Given the description of an element on the screen output the (x, y) to click on. 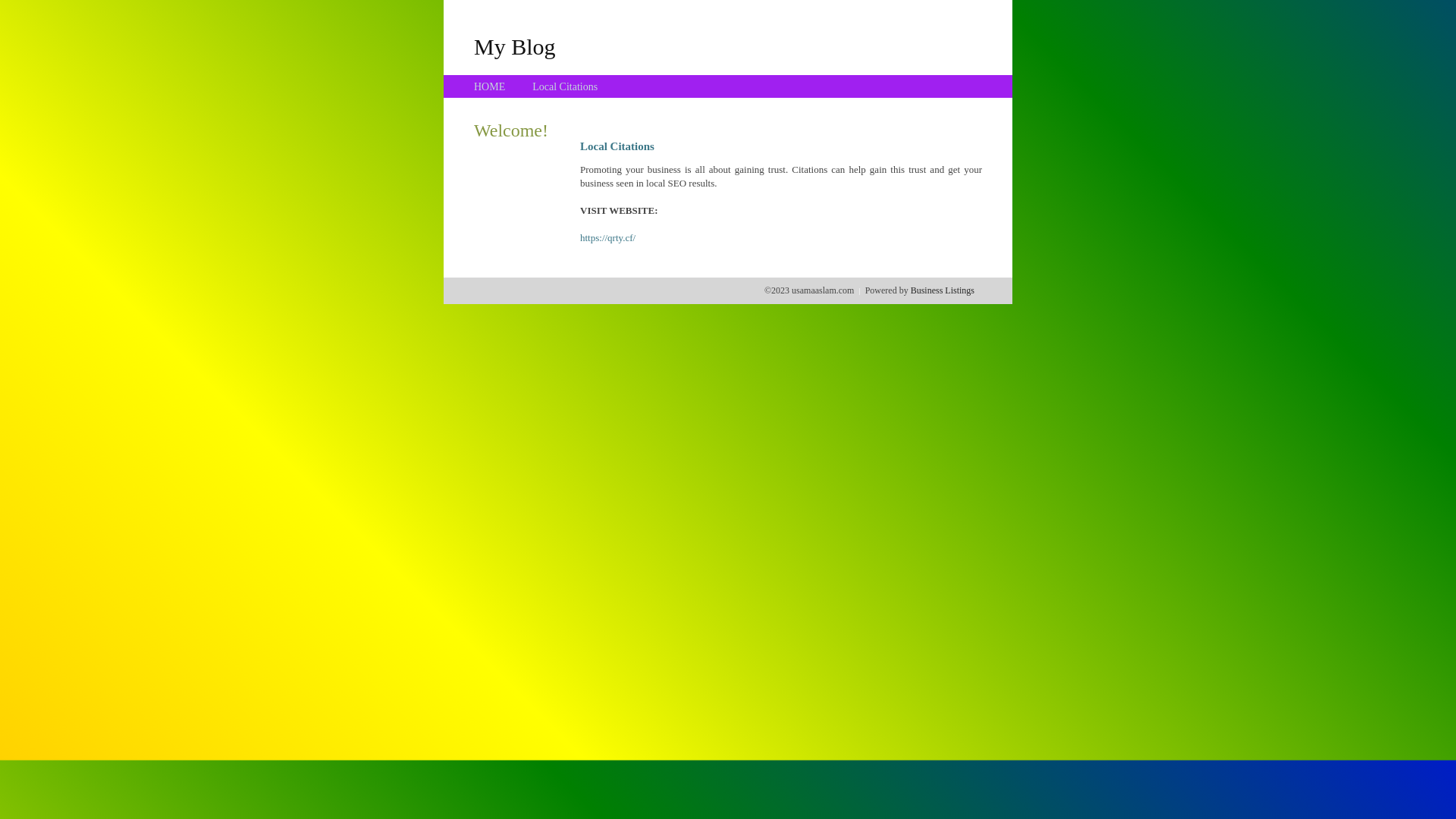
My Blog Element type: text (514, 46)
HOME Element type: text (489, 86)
Local Citations Element type: text (564, 86)
Business Listings Element type: text (942, 290)
https://qrty.cf/ Element type: text (607, 237)
